Given the description of an element on the screen output the (x, y) to click on. 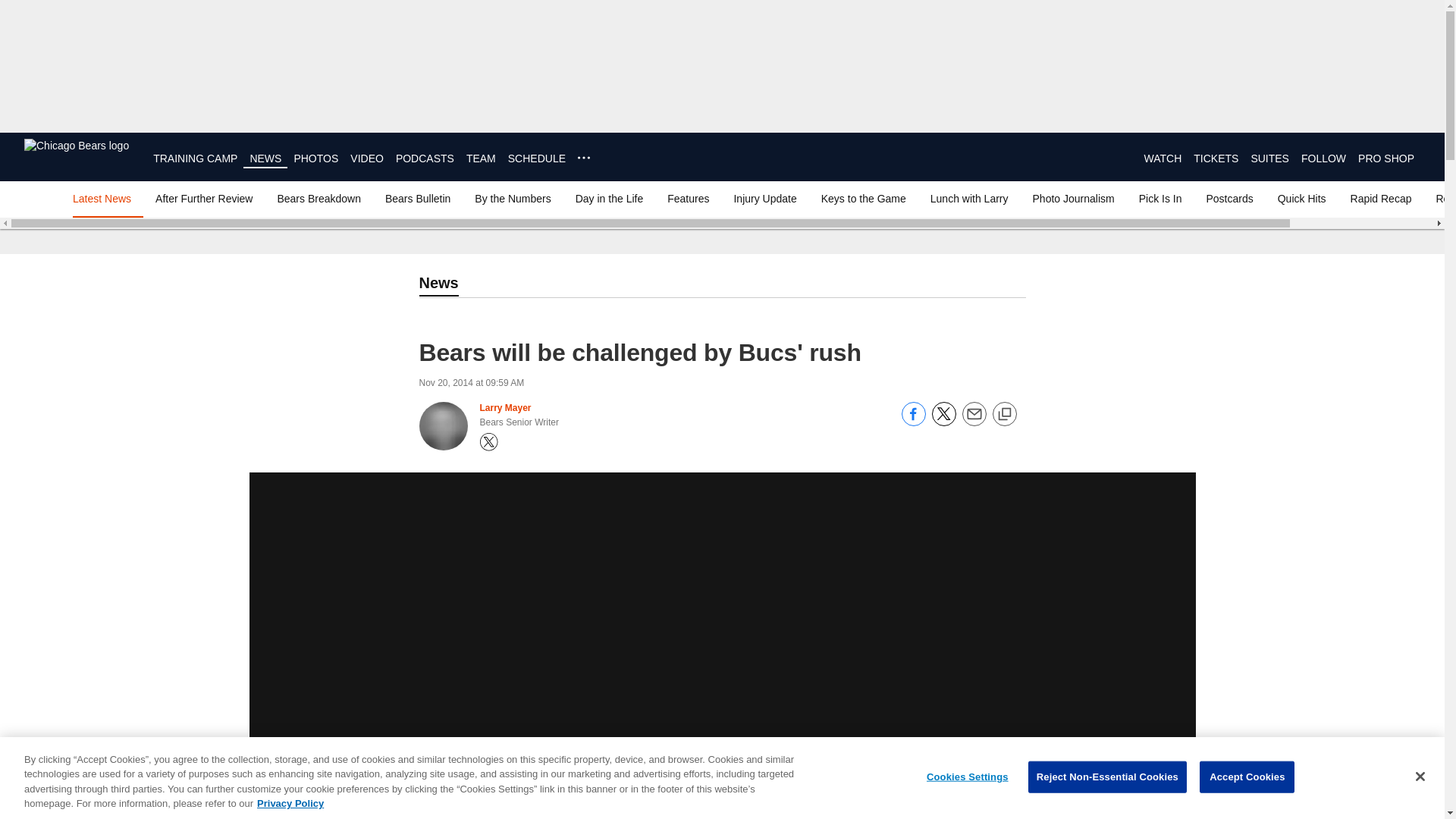
SCHEDULE (537, 158)
TRAINING CAMP (194, 158)
TICKETS (1216, 158)
VIDEO (367, 158)
Lunch with Larry (969, 198)
Link to club's homepage (76, 156)
NEWS (264, 158)
Quick Hits (1301, 198)
PHOTOS (315, 158)
SUITES (1269, 158)
Pick Is In (1160, 198)
Photo Journalism (1073, 198)
PRO SHOP (1385, 158)
Rapid Recap (1380, 198)
Bears Breakdown (318, 198)
